Given the description of an element on the screen output the (x, y) to click on. 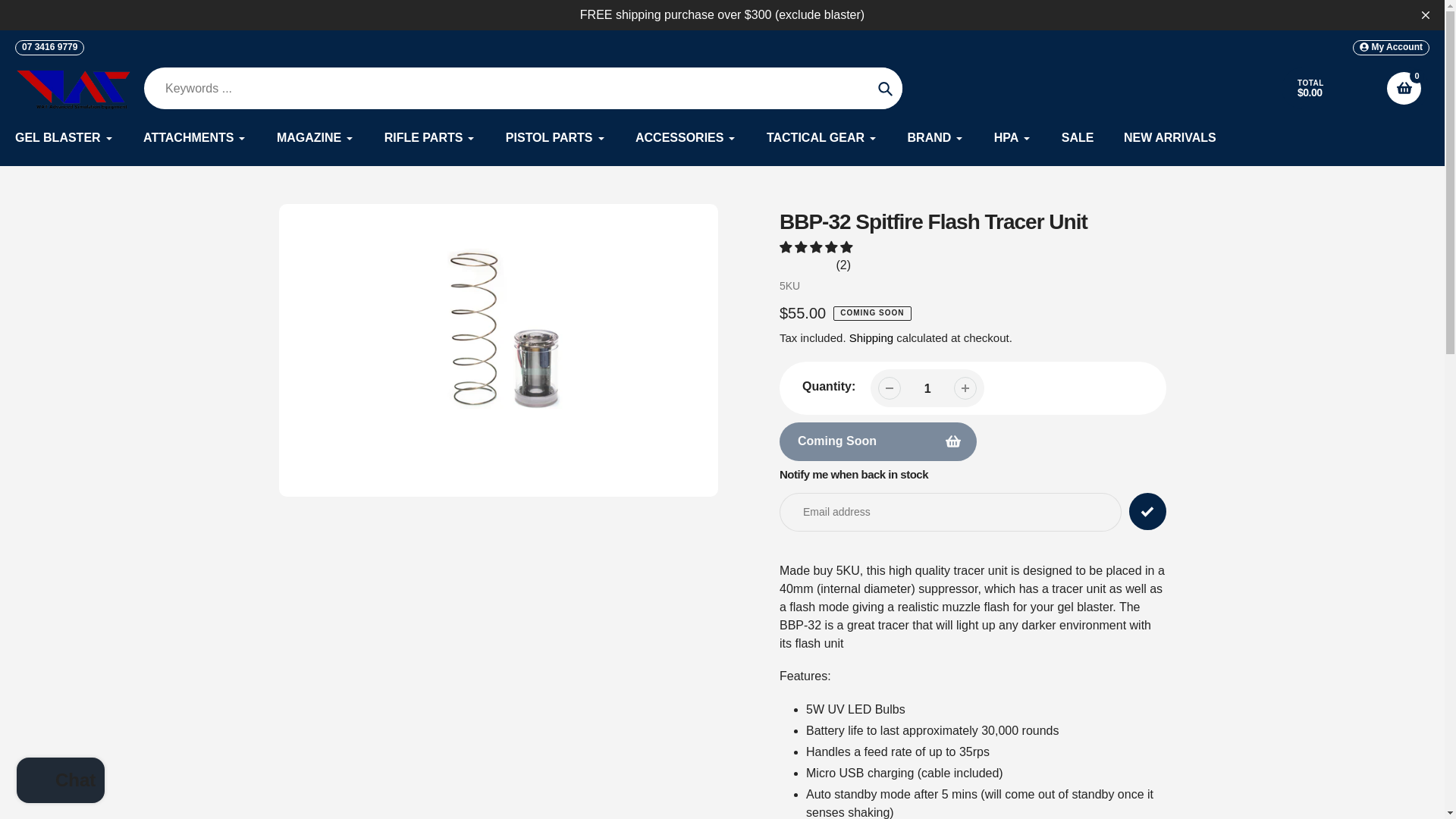
ATTACHMENTS (194, 137)
My Account (1390, 47)
GEL BLASTER (63, 137)
0 (1404, 88)
07 3416 9779 (49, 47)
1 (927, 388)
Shopify online store chat (60, 781)
5KU (788, 285)
